Given the description of an element on the screen output the (x, y) to click on. 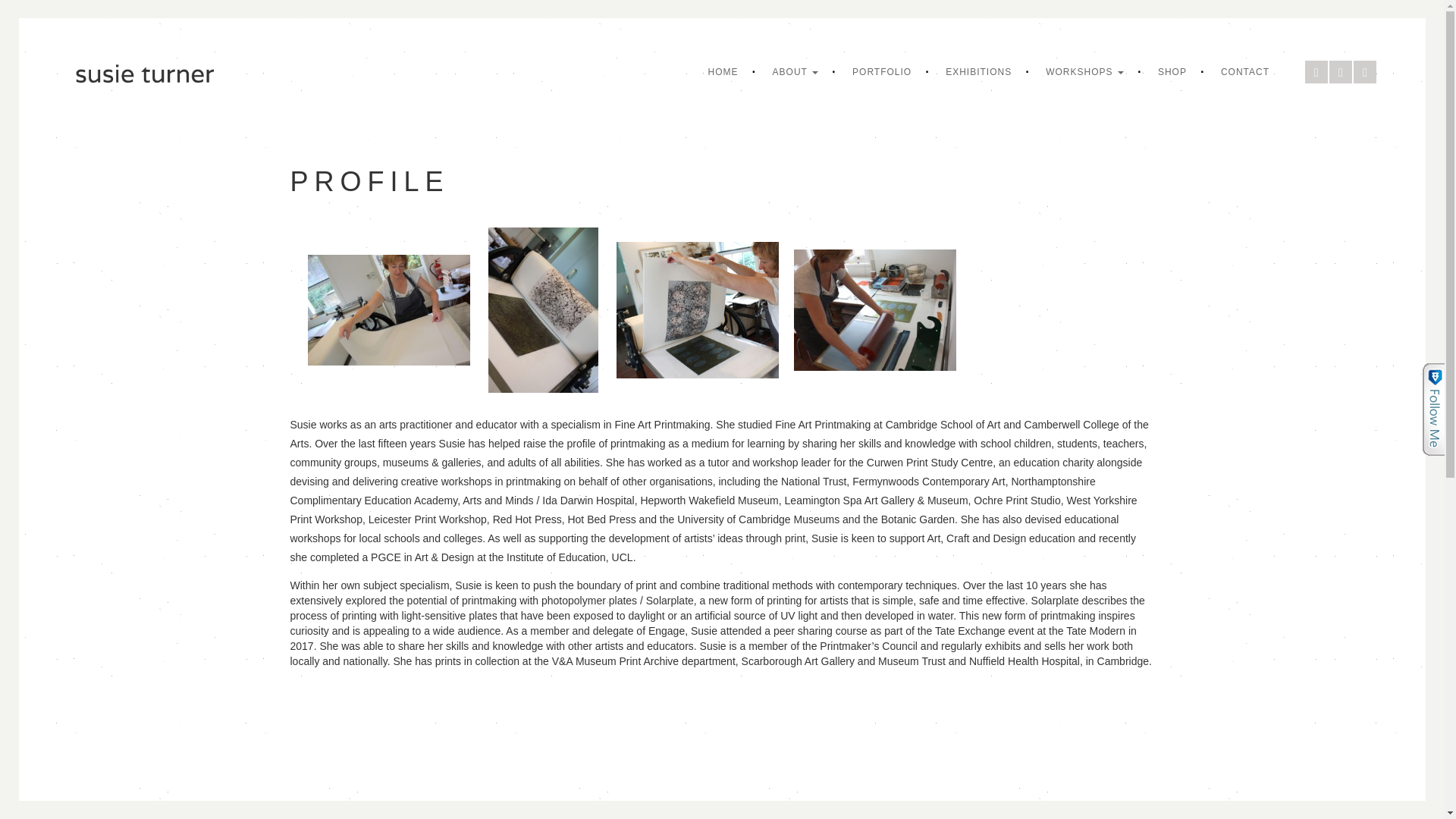
WORKSHOPS (1084, 71)
Portfolio (882, 71)
EXHIBITIONS (978, 71)
CONTACT (1245, 71)
Exhibitions (978, 71)
Contact (1245, 71)
SHOP (1172, 71)
HOME (723, 71)
Workshops (1084, 71)
PORTFOLIO (882, 71)
Home (723, 71)
Shop (1172, 71)
ABOUT (795, 71)
About (795, 71)
